Given the description of an element on the screen output the (x, y) to click on. 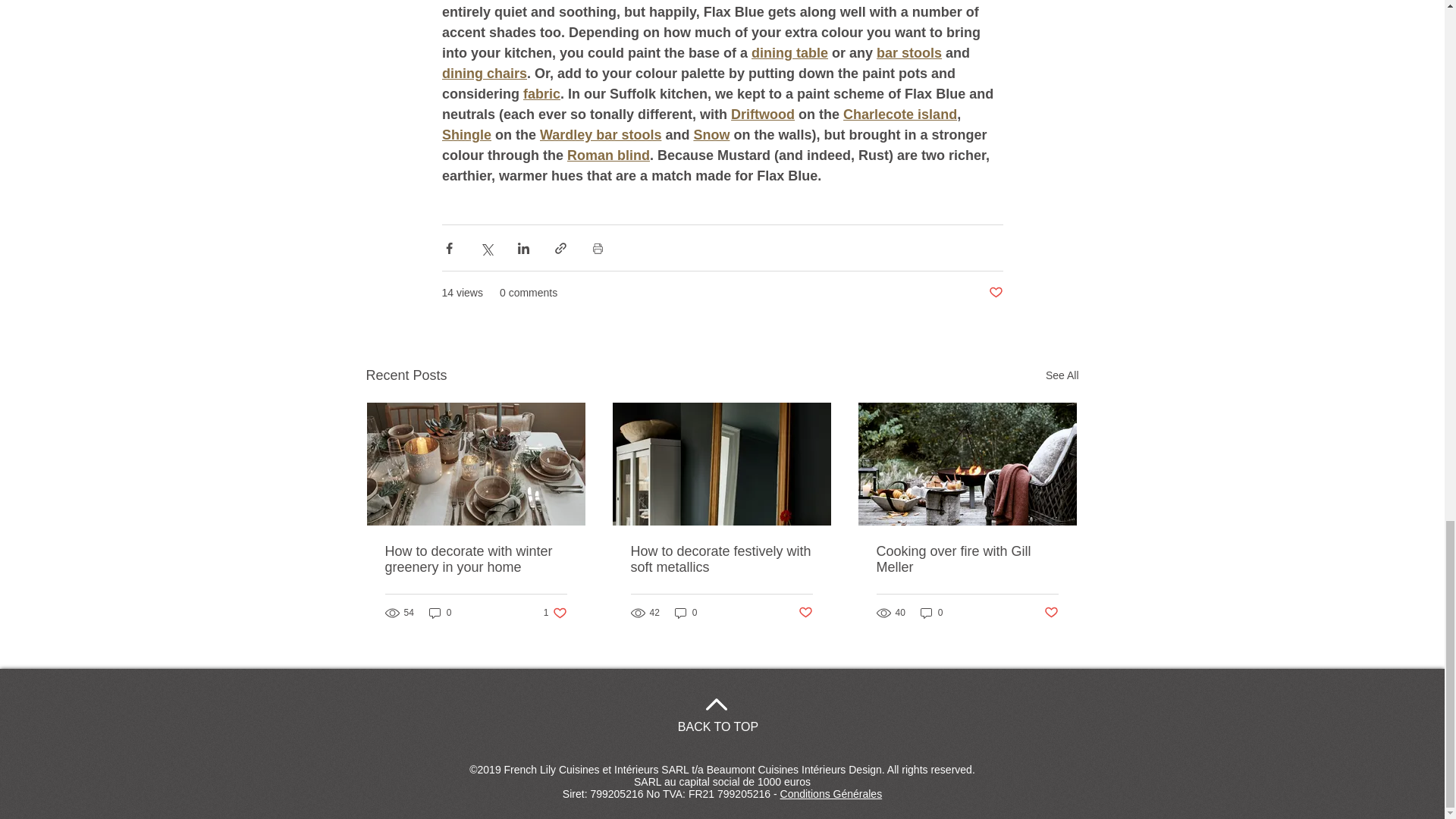
Charlecote island (899, 114)
bar stools (909, 52)
Snow (711, 134)
Wardley bar stools (600, 134)
dining chairs (483, 73)
Driftwood (762, 114)
Roman blind (607, 155)
dining table (789, 52)
fabric (541, 93)
Shingle (465, 134)
